Given the description of an element on the screen output the (x, y) to click on. 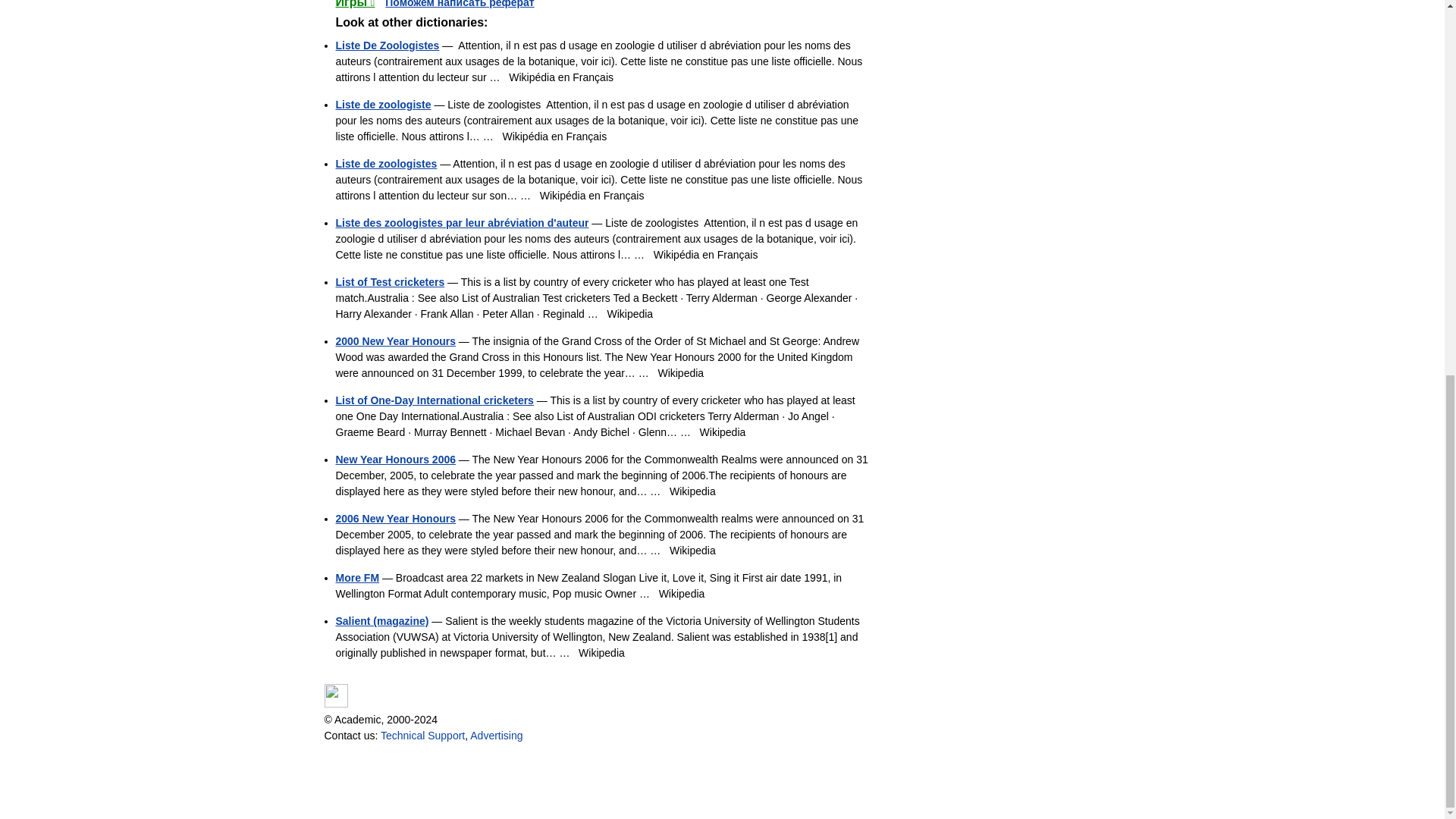
Technical Support (422, 735)
2000 New Year Honours (394, 340)
LiveInternet (335, 695)
Liste De Zoologistes (386, 45)
New Year Honours 2006 (394, 459)
List of Test cricketers (389, 282)
More FM (356, 577)
List of One-Day International cricketers (433, 399)
Liste de zoologiste (382, 104)
2006 New Year Honours (394, 518)
